Given the description of an element on the screen output the (x, y) to click on. 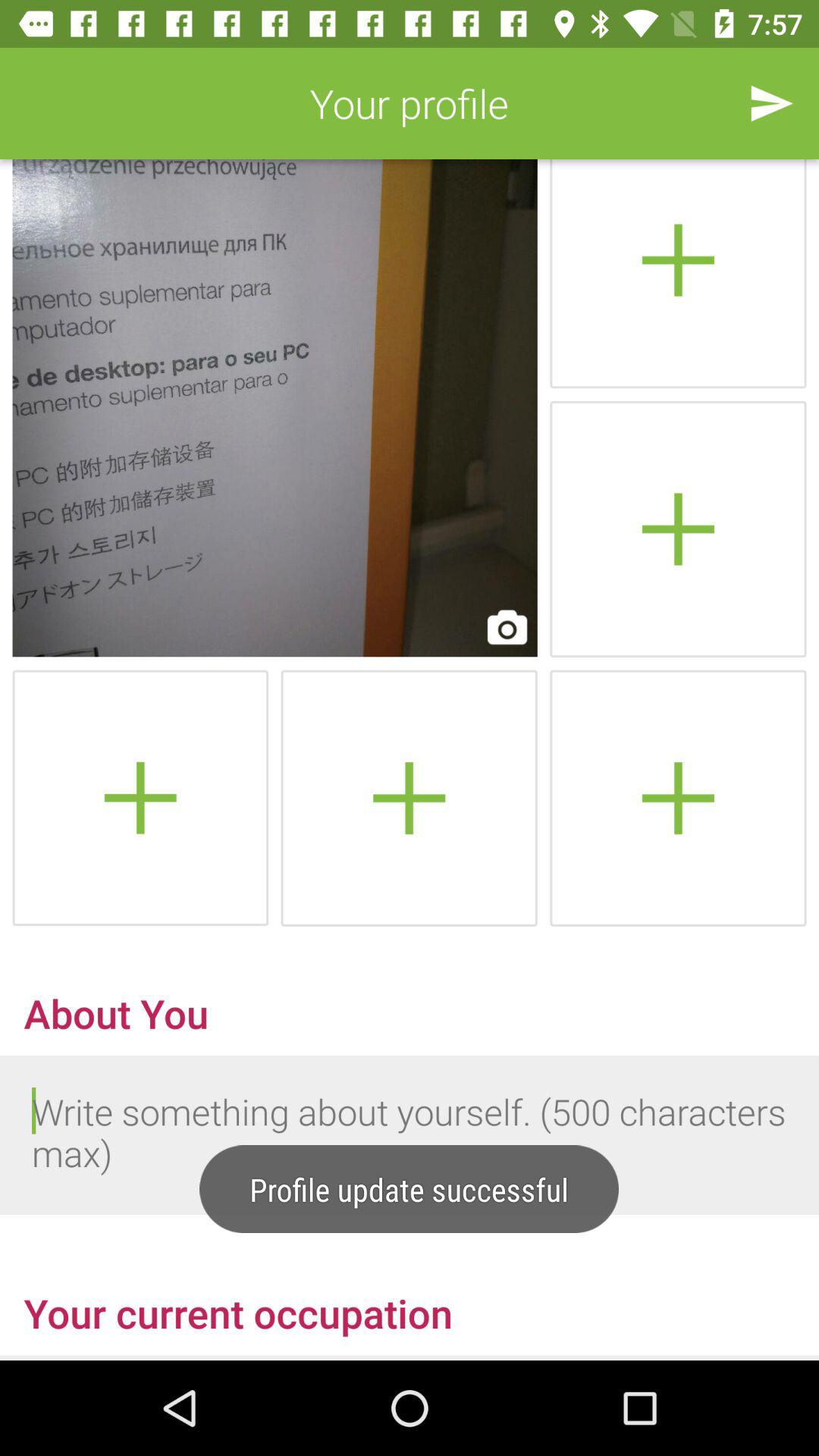
enter description (409, 1134)
